Given the description of an element on the screen output the (x, y) to click on. 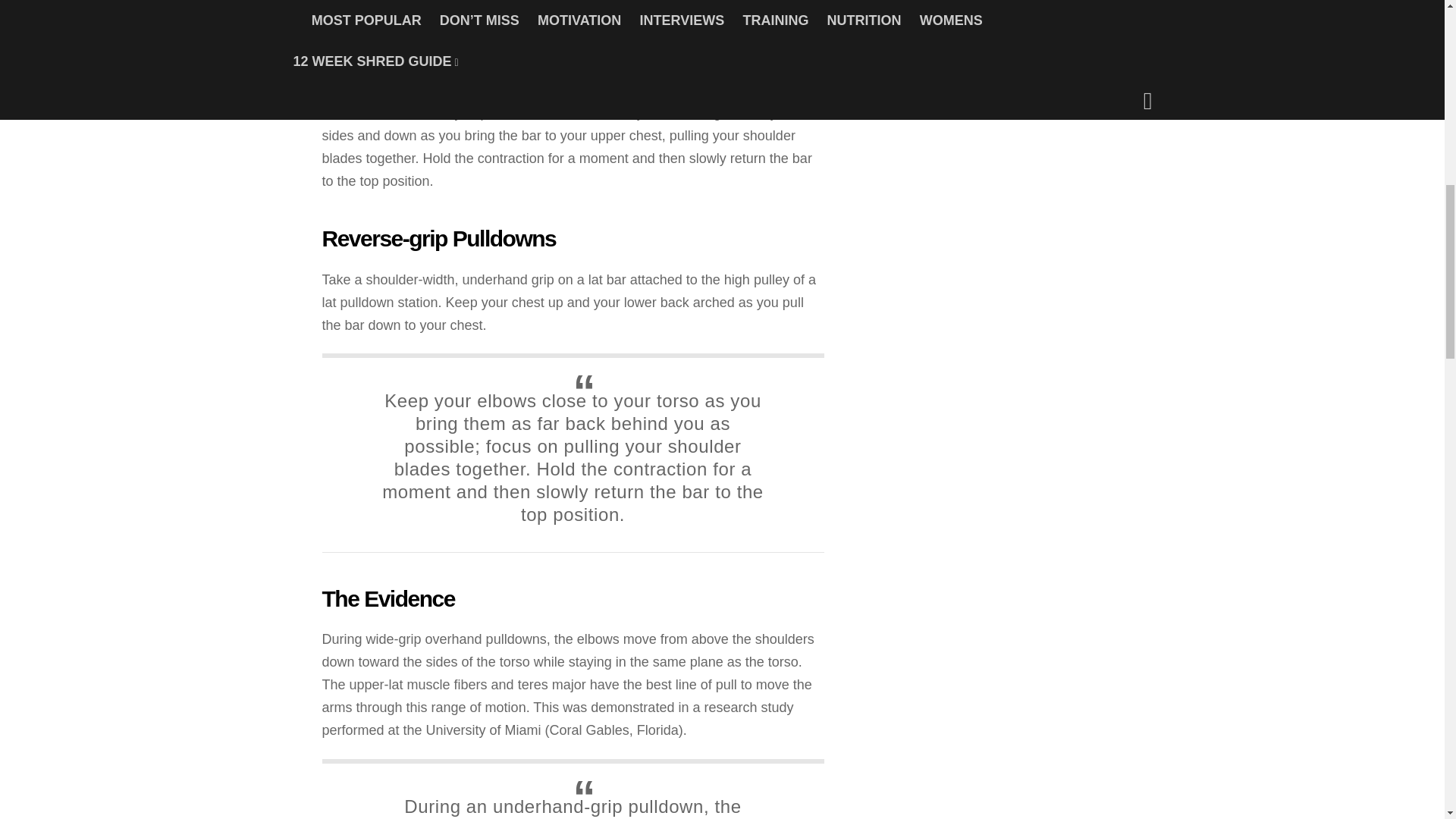
11749 (741, 33)
